Given the description of an element on the screen output the (x, y) to click on. 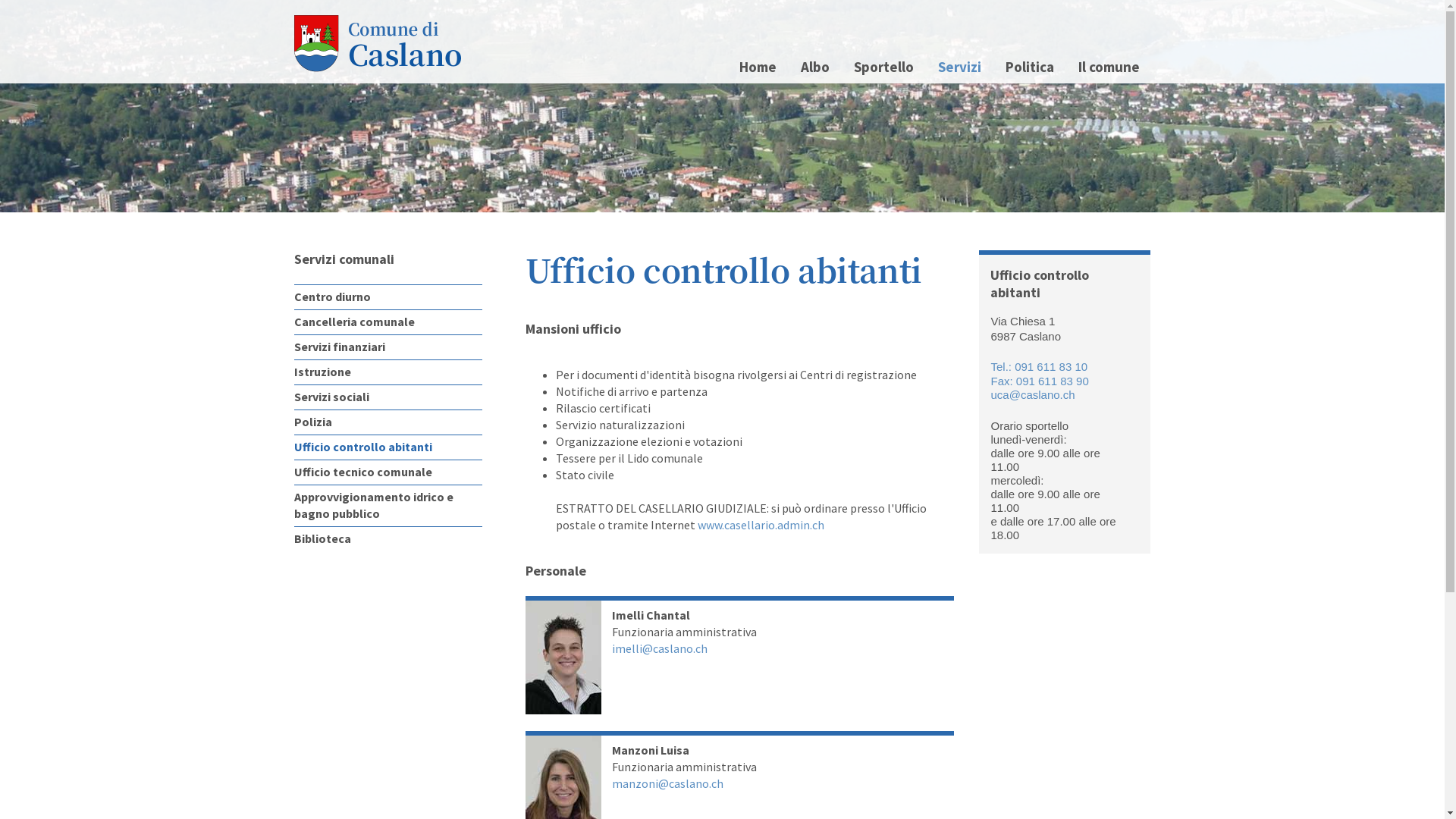
www.casellario.admin.ch Element type: text (759, 524)
Il comune Element type: text (1108, 66)
Fax: 091 611 83 90 Element type: text (1039, 380)
Tel.: 091 611 83 10 Element type: text (1038, 366)
Sportello Element type: text (882, 66)
Servizi sociali Element type: text (388, 396)
Cancelleria comunale Element type: text (388, 321)
imelli@caslano.ch Element type: text (659, 647)
Servizi Element type: text (959, 66)
Approvvigionamento idrico e bagno pubblico Element type: text (388, 505)
Polizia Element type: text (388, 421)
Istruzione Element type: text (388, 371)
Centro diurno Element type: text (388, 296)
Ufficio controllo abitanti Element type: text (388, 446)
Albo Element type: text (814, 66)
Ufficio tecnico comunale Element type: text (388, 471)
uca@caslano.ch Element type: text (1032, 394)
Servizi finanziari Element type: text (388, 346)
Biblioteca Element type: text (388, 538)
Politica Element type: text (1028, 66)
Home Element type: text (757, 66)
manzoni@caslano.ch Element type: text (667, 782)
